Given the description of an element on the screen output the (x, y) to click on. 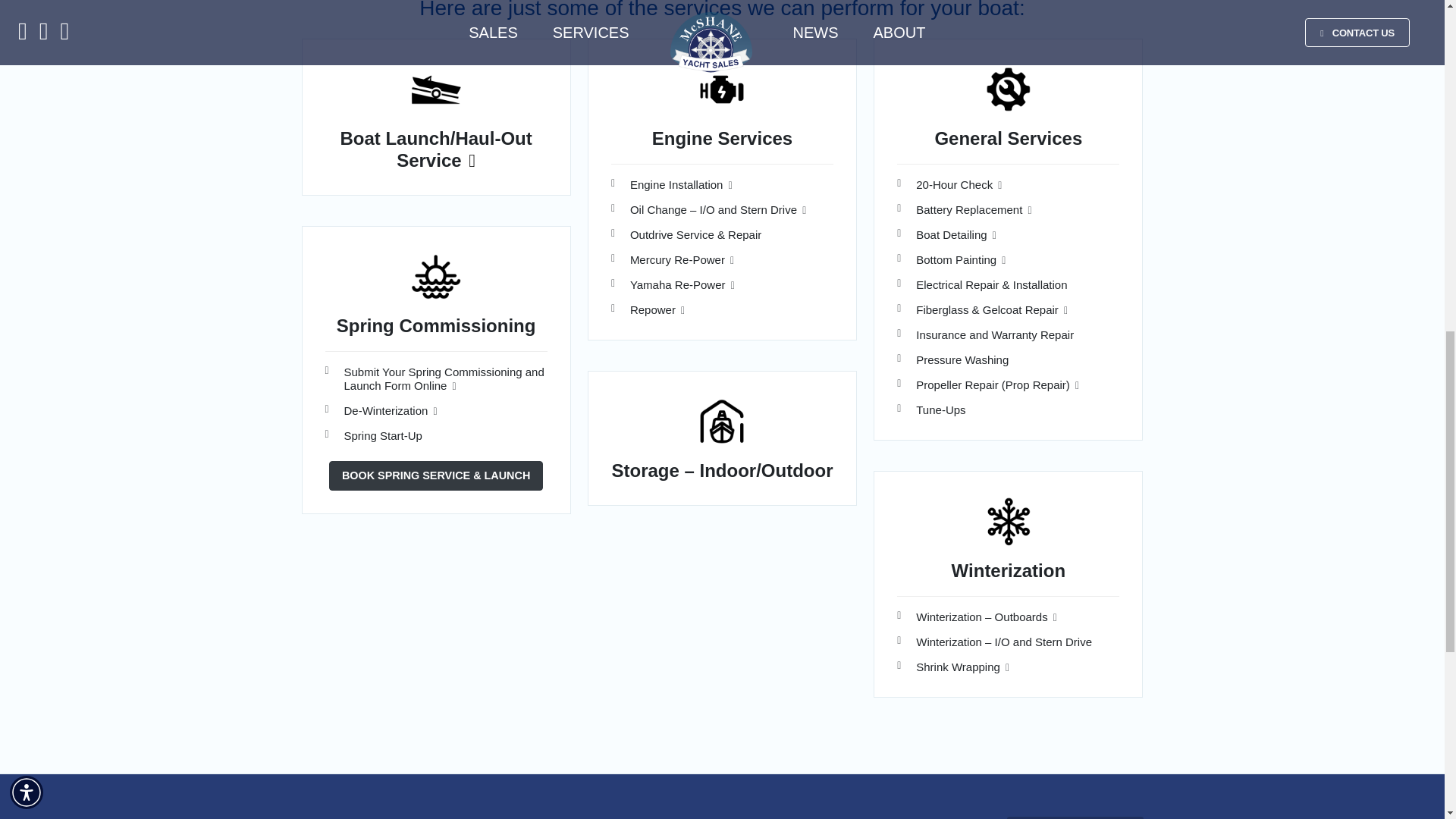
Engine Installation (681, 184)
Battery Replacement (972, 209)
Submit Your Spring Commissioning and Launch Form Online (443, 378)
Boat Detailing (955, 234)
Repower (657, 309)
Yamaha Re-Power (682, 284)
Bottom Painting (960, 259)
Mercury Re-Power (681, 259)
20-Hour Check (958, 184)
